Given the description of an element on the screen output the (x, y) to click on. 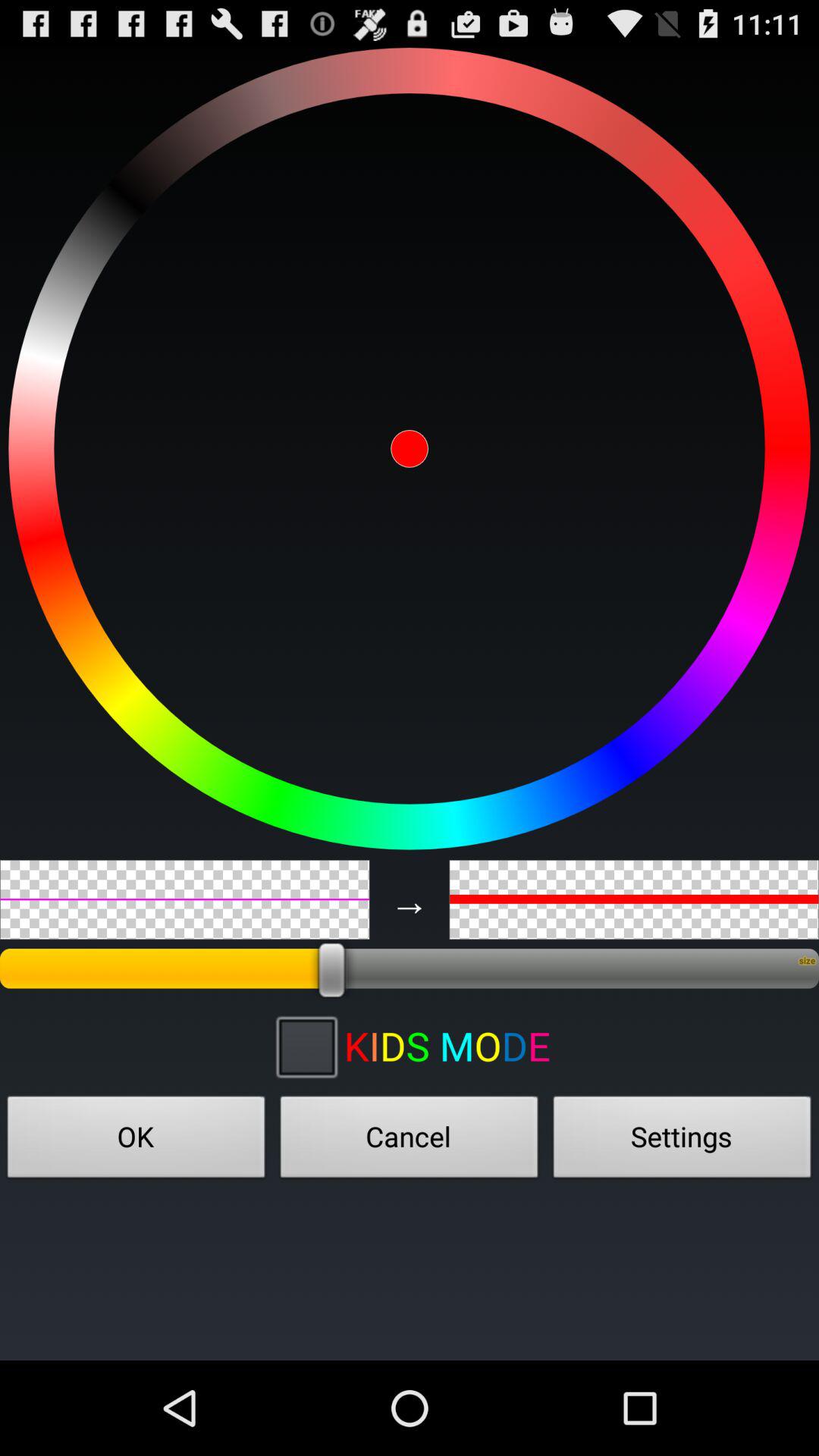
launch the item above the ok button (306, 1045)
